Given the description of an element on the screen output the (x, y) to click on. 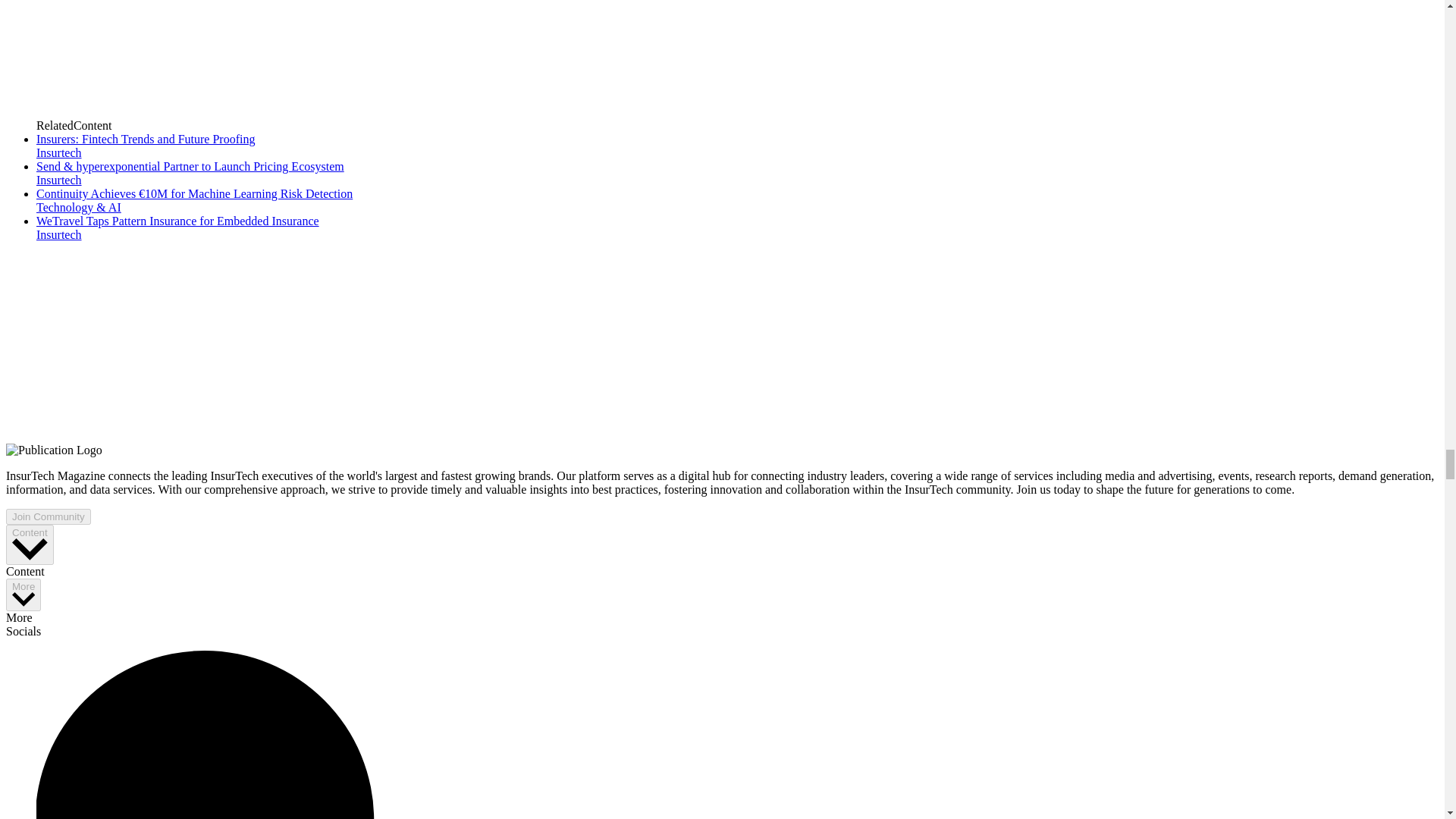
More (22, 594)
Content (29, 544)
Join Community (47, 516)
